Given the description of an element on the screen output the (x, y) to click on. 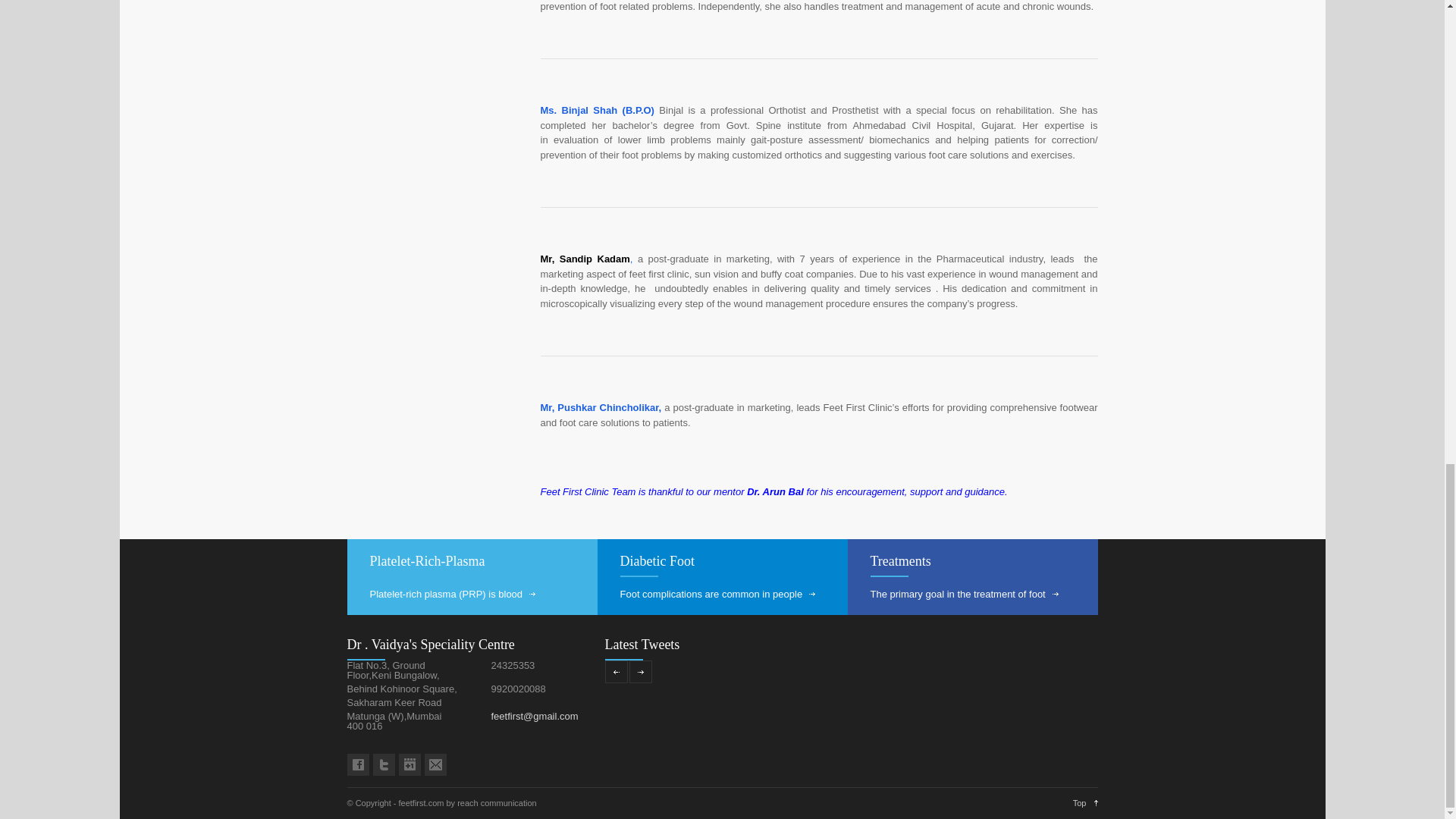
The primary goal in the treatment of foot  (964, 593)
 Platelet-Rich-Plasma (433, 560)
Scroll to top (1085, 802)
Top (1085, 802)
Treatments (906, 560)
Foot complications are common in people  (717, 593)
Send Email (535, 715)
Diabetic Foot (663, 560)
